Given the description of an element on the screen output the (x, y) to click on. 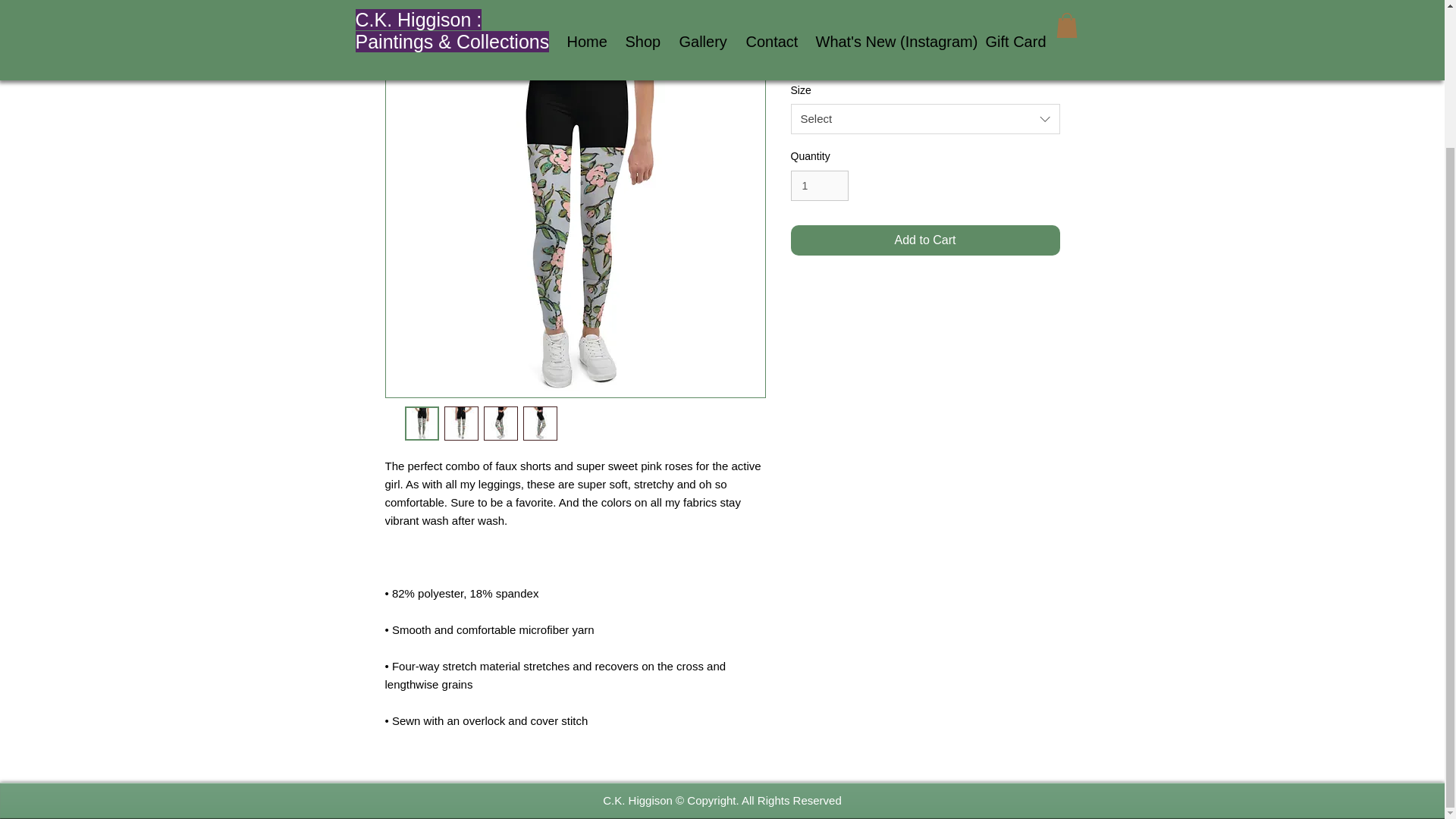
Add to Cart (924, 240)
Select (924, 119)
1 (818, 185)
